Given the description of an element on the screen output the (x, y) to click on. 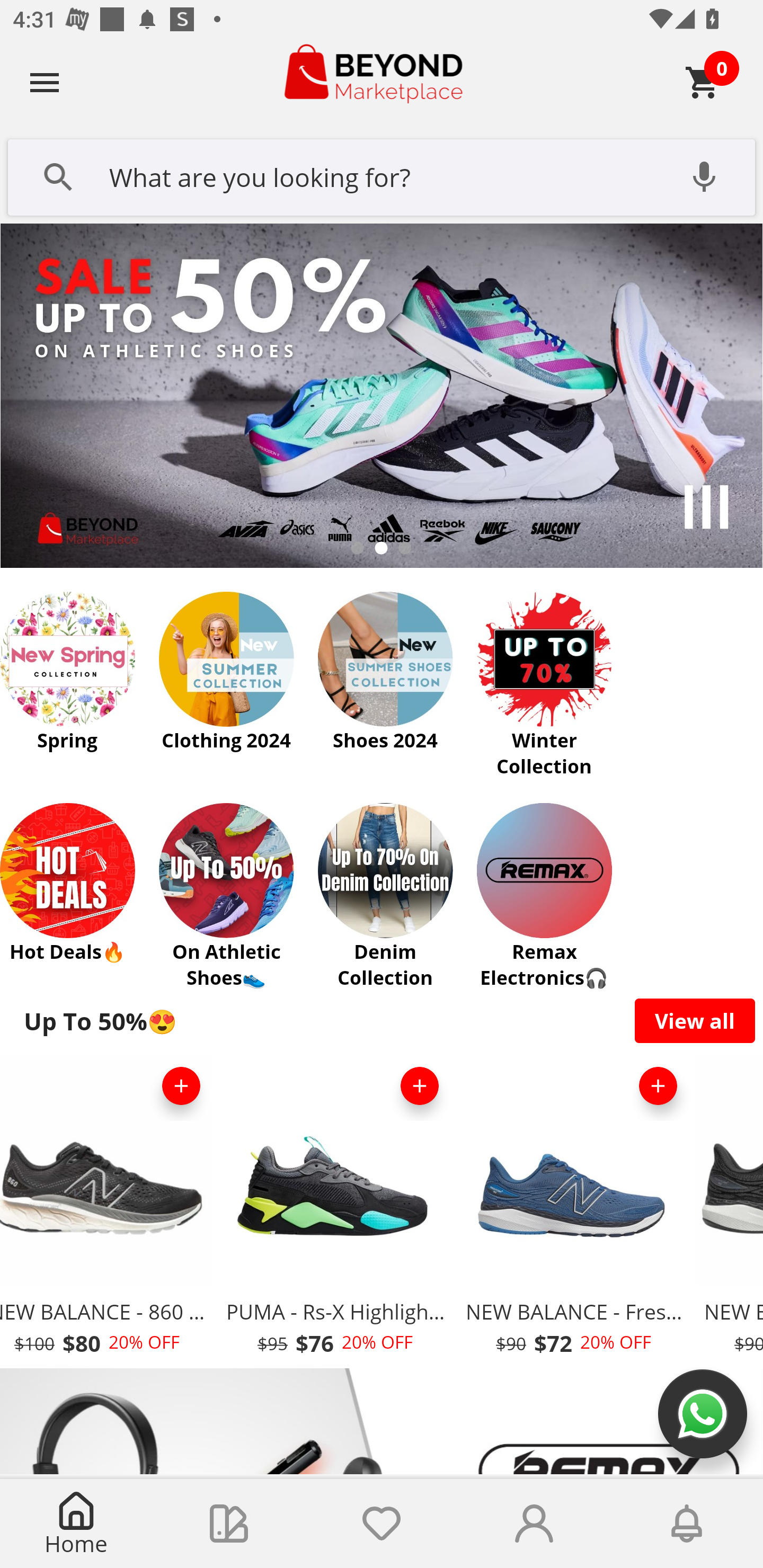
Navigate up (44, 82)
What are you looking for? (381, 175)
View all (694, 1020)
NEW BALANCE - 860 Running Shoes $100 $80 20% OFF (107, 1209)
Collections (228, 1523)
Wishlist (381, 1523)
Account (533, 1523)
Notifications (686, 1523)
